Given the description of an element on the screen output the (x, y) to click on. 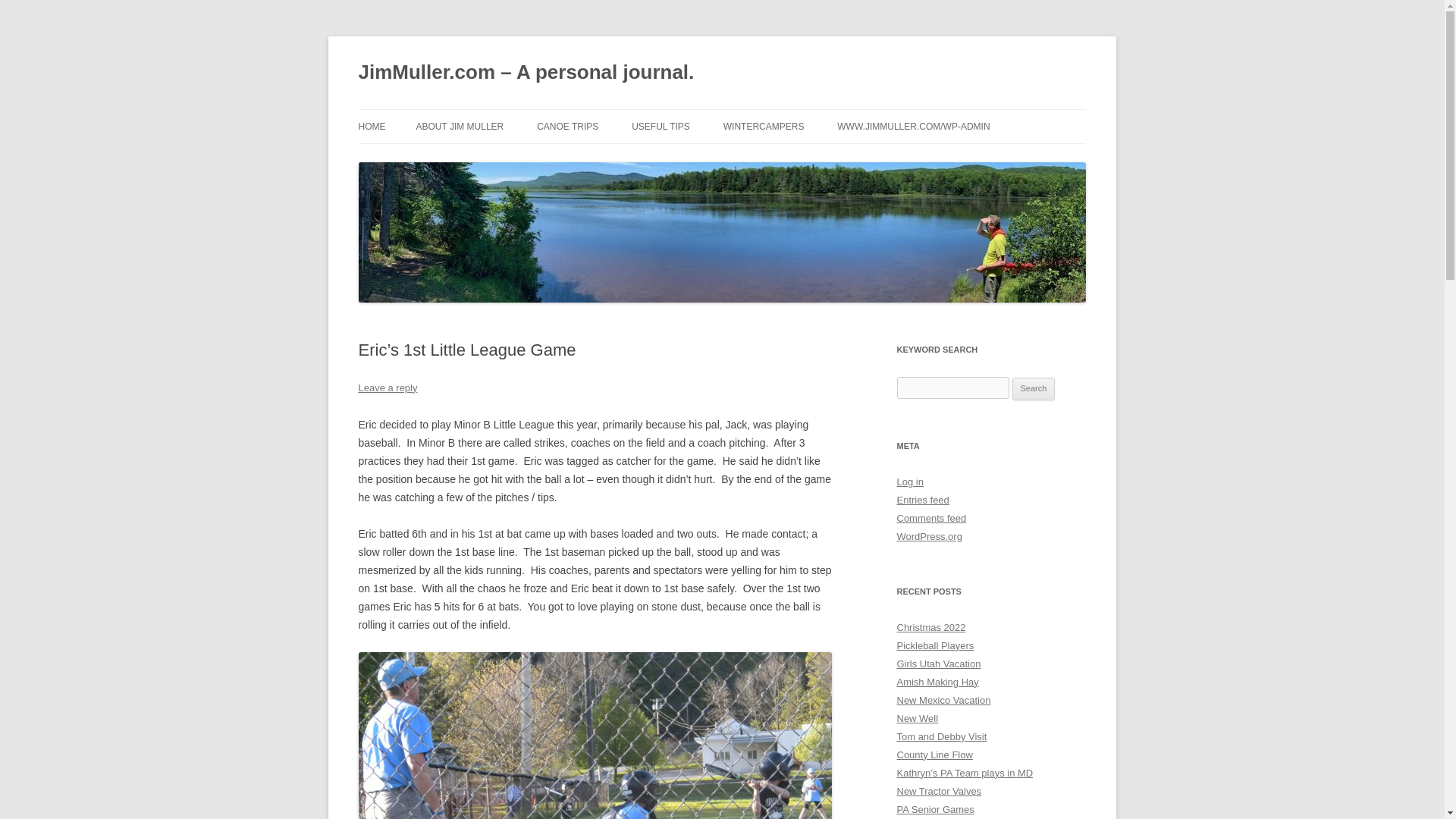
CANOE TRIPS (567, 126)
RACQUETTE RIVER: AXTON LANDING (612, 167)
DSCN1356 (594, 735)
Search (1033, 388)
ABOUT JIM MULLER (458, 126)
